Given the description of an element on the screen output the (x, y) to click on. 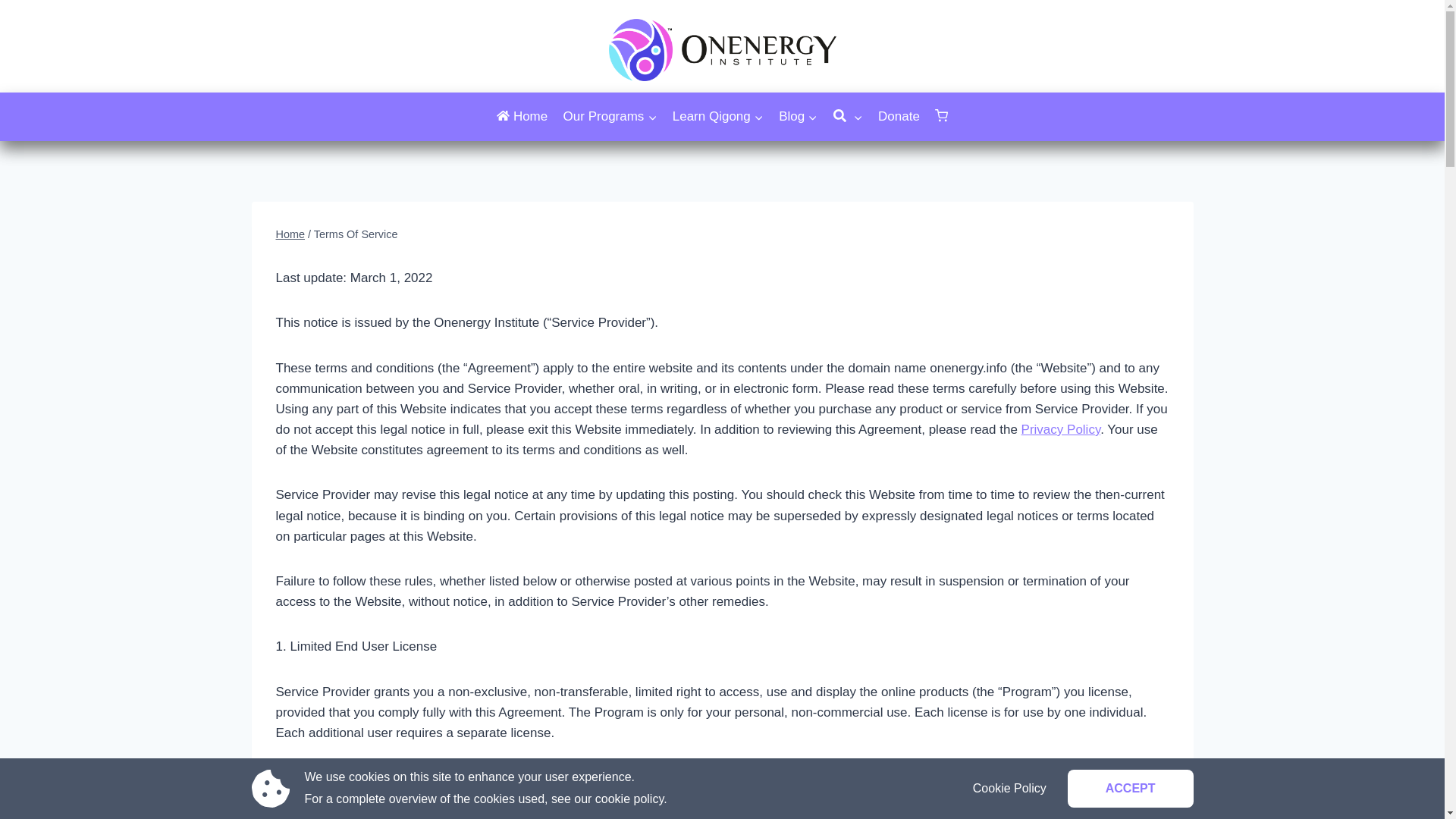
Home (522, 116)
Our Programs (608, 116)
Learn Qigong (718, 116)
Blog (798, 116)
